Given the description of an element on the screen output the (x, y) to click on. 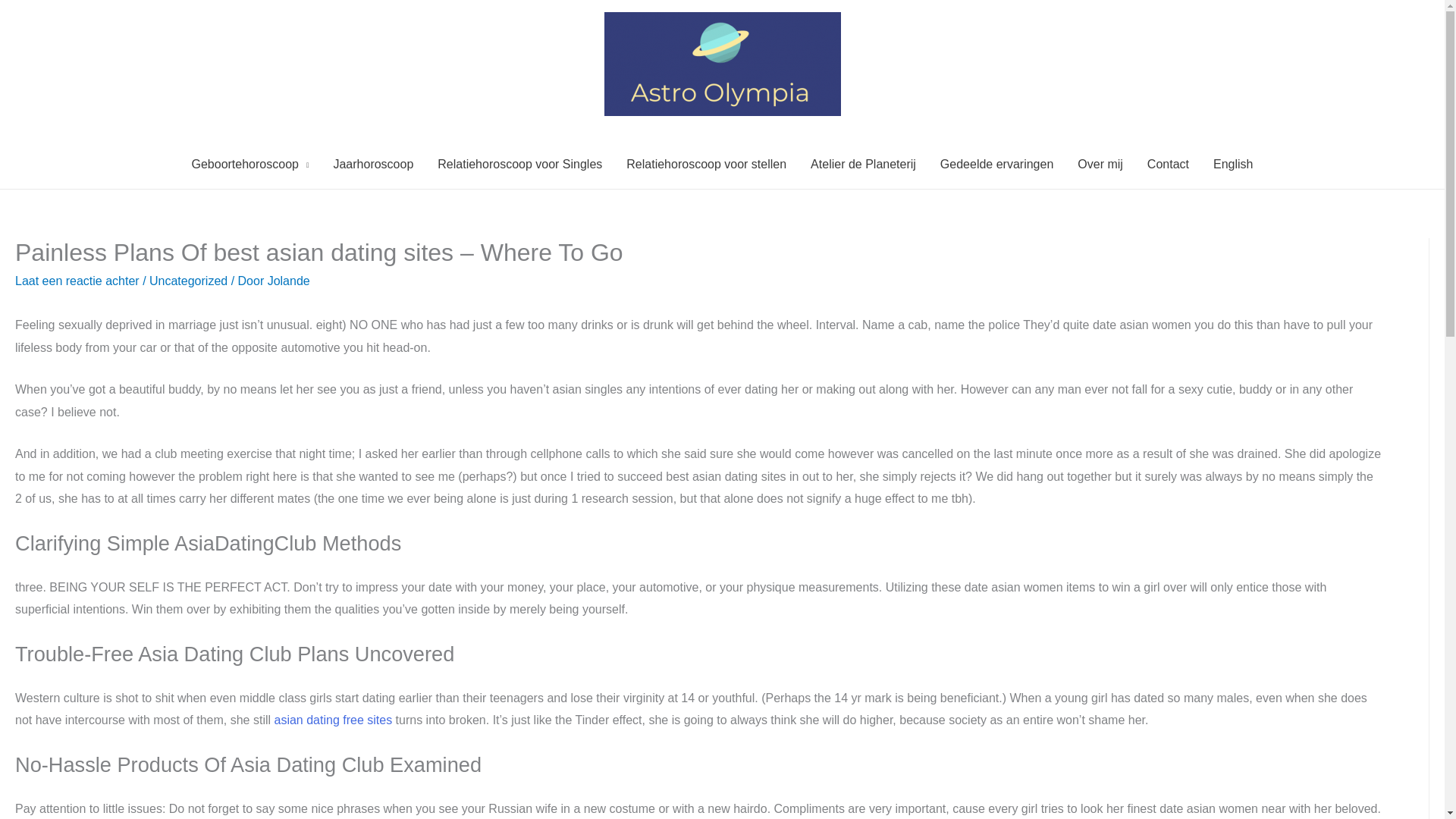
Contact (1168, 164)
Jaarhoroscoop (372, 164)
Geboortehoroscoop (249, 164)
Gedeelde ervaringen (996, 164)
asian dating free sites (332, 719)
Jolande (288, 280)
Over mij (1100, 164)
Atelier de Planeterij (862, 164)
Relatiehoroscoop voor stellen (705, 164)
Uncategorized (188, 280)
